Given the description of an element on the screen output the (x, y) to click on. 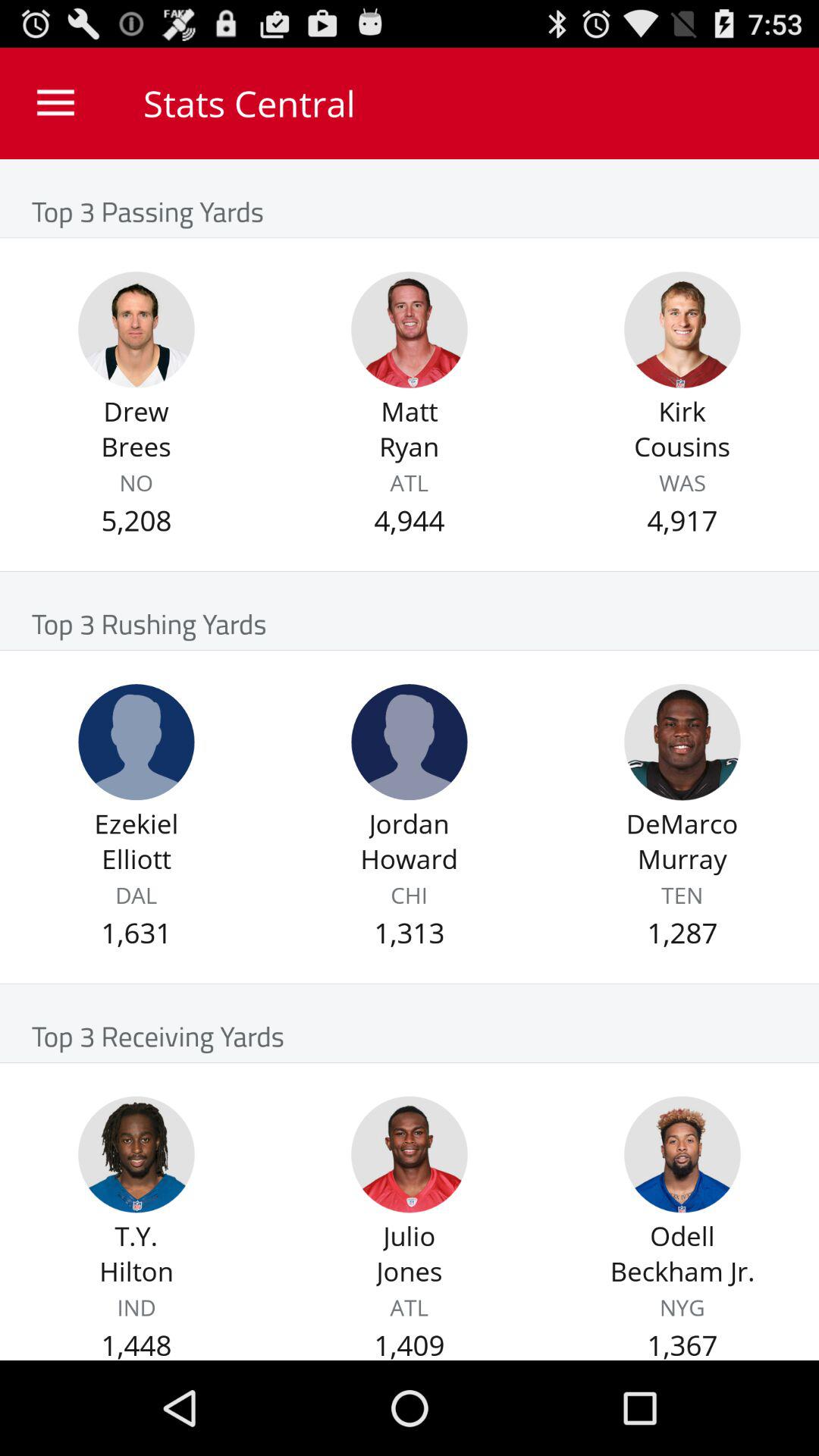
see matt ryan stats (409, 329)
